Given the description of an element on the screen output the (x, y) to click on. 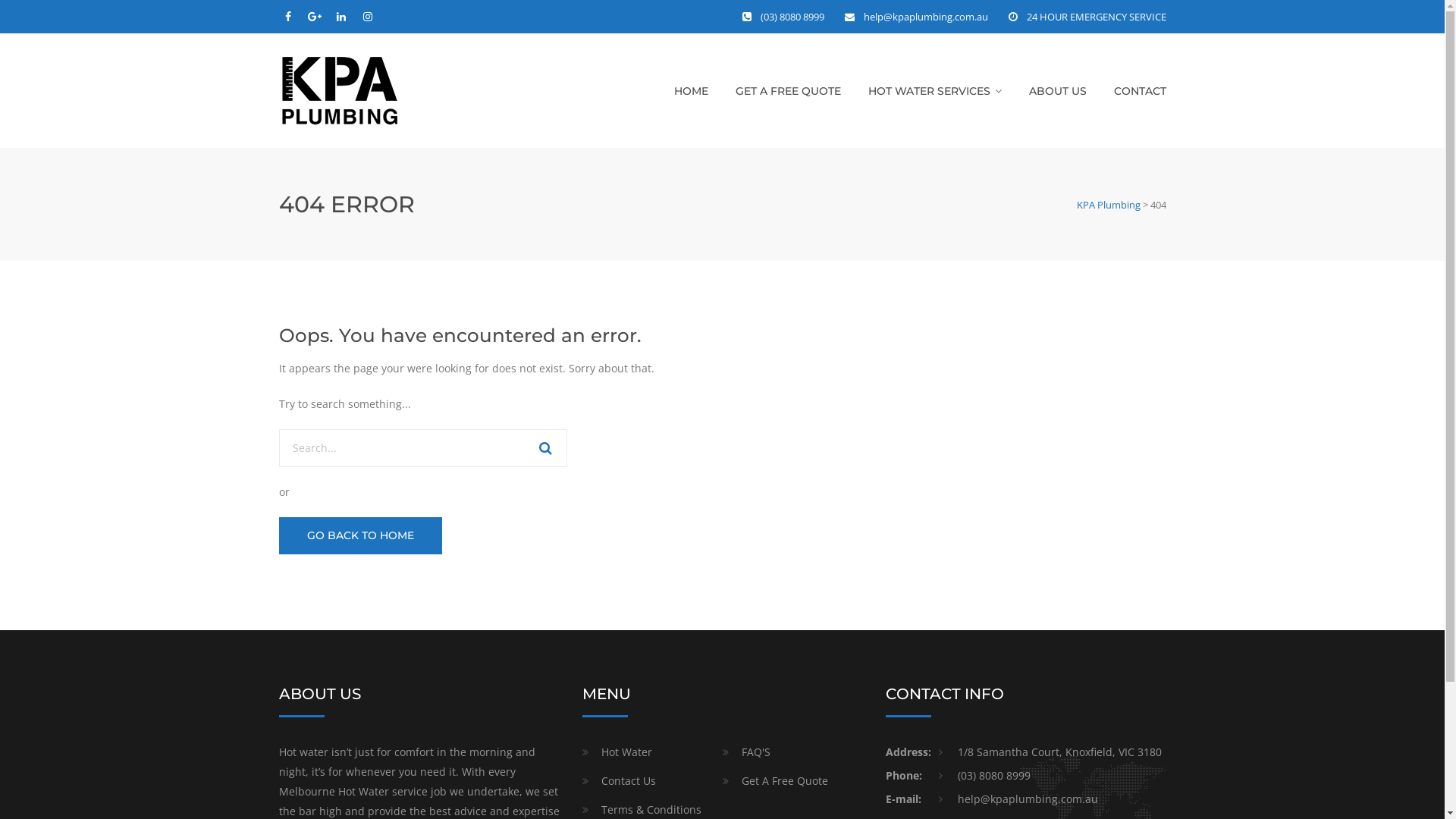
HOT WATER SERVICES Element type: text (934, 90)
HOME Element type: text (690, 90)
(03) 8080 8999 Element type: text (791, 16)
GET A FREE QUOTE Element type: text (787, 90)
Get A Free Quote Element type: text (774, 780)
Contact Us Element type: text (618, 780)
1/8 Samantha Court, Knoxfield, VIC 3180 Element type: text (1049, 752)
(03) 8080 8999 Element type: text (984, 775)
ABOUT US Element type: text (1056, 90)
KPA Plumbing Element type: text (1108, 204)
help@kpaplumbing.com.au Element type: text (1018, 799)
FAQ'S Element type: text (745, 752)
GO BACK TO HOME Element type: text (360, 535)
Hot Water Element type: text (617, 752)
24 HOUR EMERGENCY SERVICE Element type: text (1096, 16)
help@kpaplumbing.com.au Element type: text (924, 16)
CONTACT Element type: text (1139, 90)
